Given the description of an element on the screen output the (x, y) to click on. 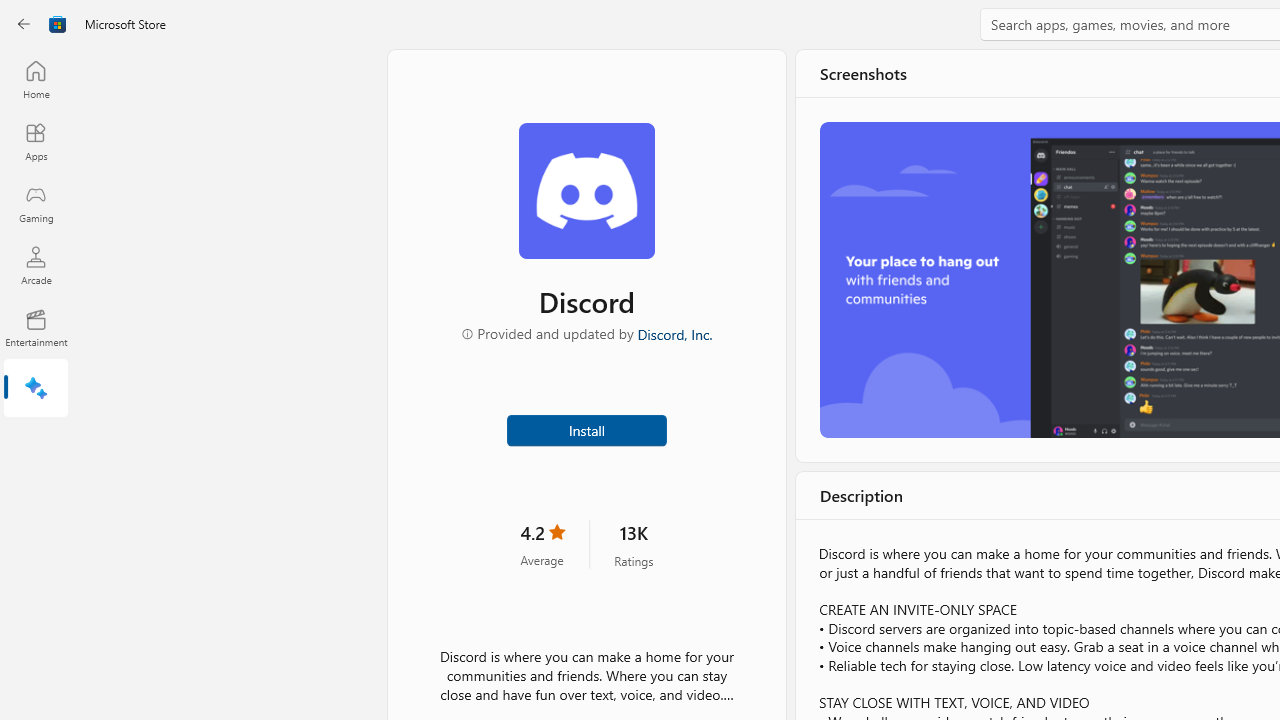
AI Hub (35, 390)
Apps (35, 141)
Home (35, 79)
Arcade (35, 265)
Class: Image (58, 24)
4.2 stars. Click to skip to ratings and reviews (542, 543)
Back (24, 24)
Discord, Inc. (673, 333)
Install (586, 428)
Entertainment (35, 327)
Gaming (35, 203)
